Given the description of an element on the screen output the (x, y) to click on. 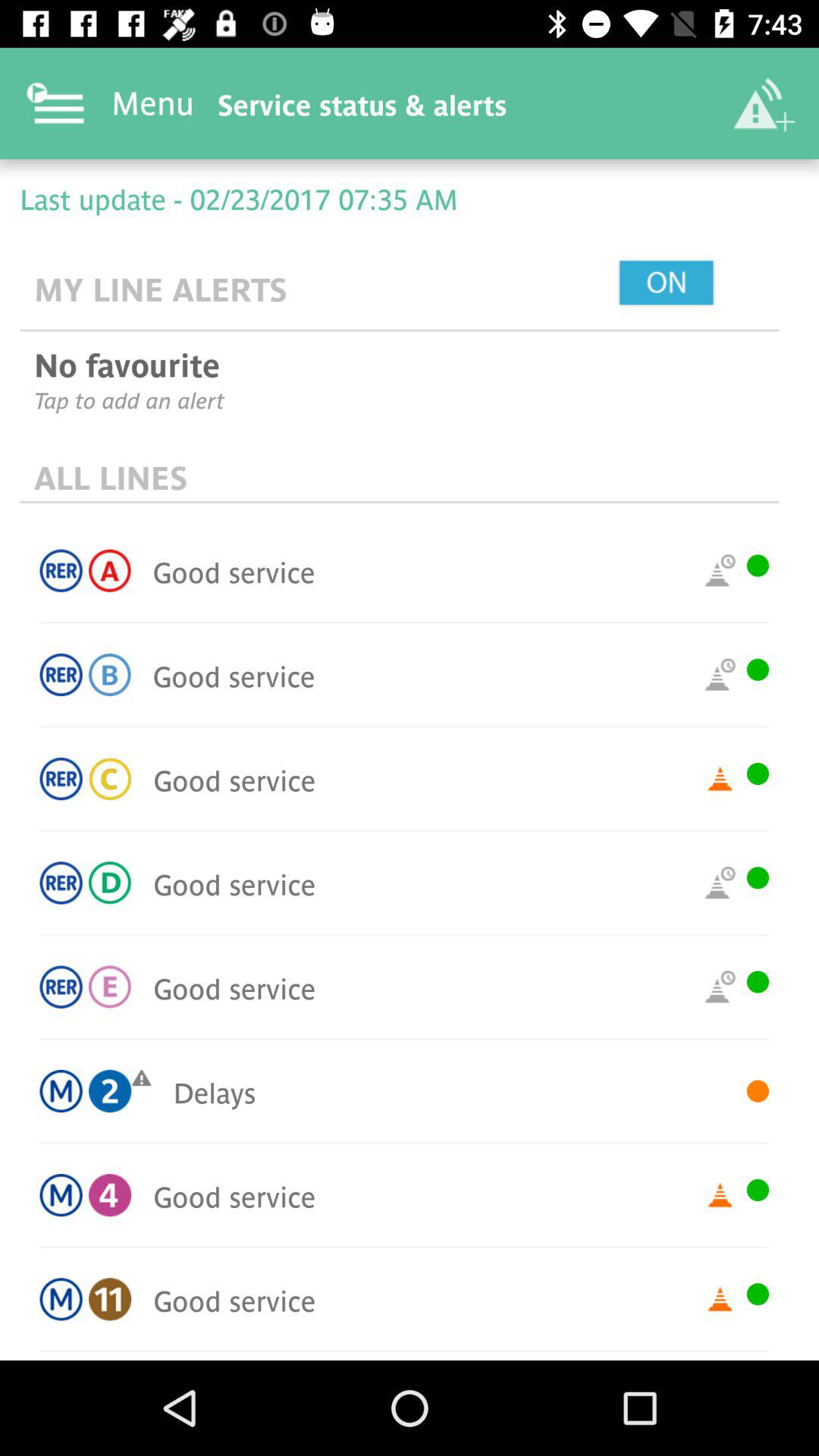
choose the item above the last update 02 item (763, 103)
